Given the description of an element on the screen output the (x, y) to click on. 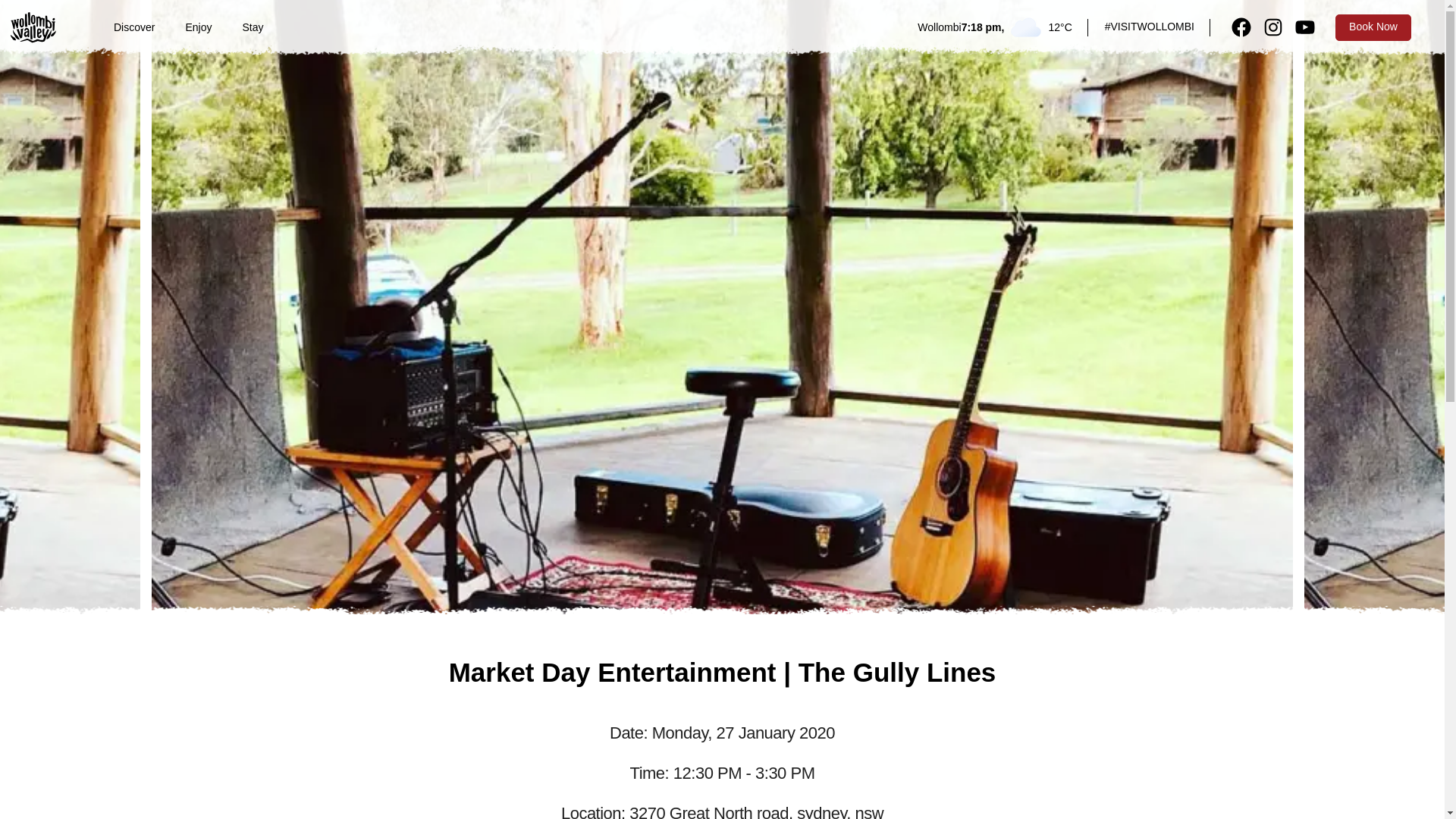
Facebook (1241, 26)
YouTube (1305, 26)
Stay (253, 27)
Stay (253, 27)
Discover (134, 27)
Enjoy (198, 27)
Discover (134, 27)
Enjoy (198, 27)
Instagram (1273, 26)
